Given the description of an element on the screen output the (x, y) to click on. 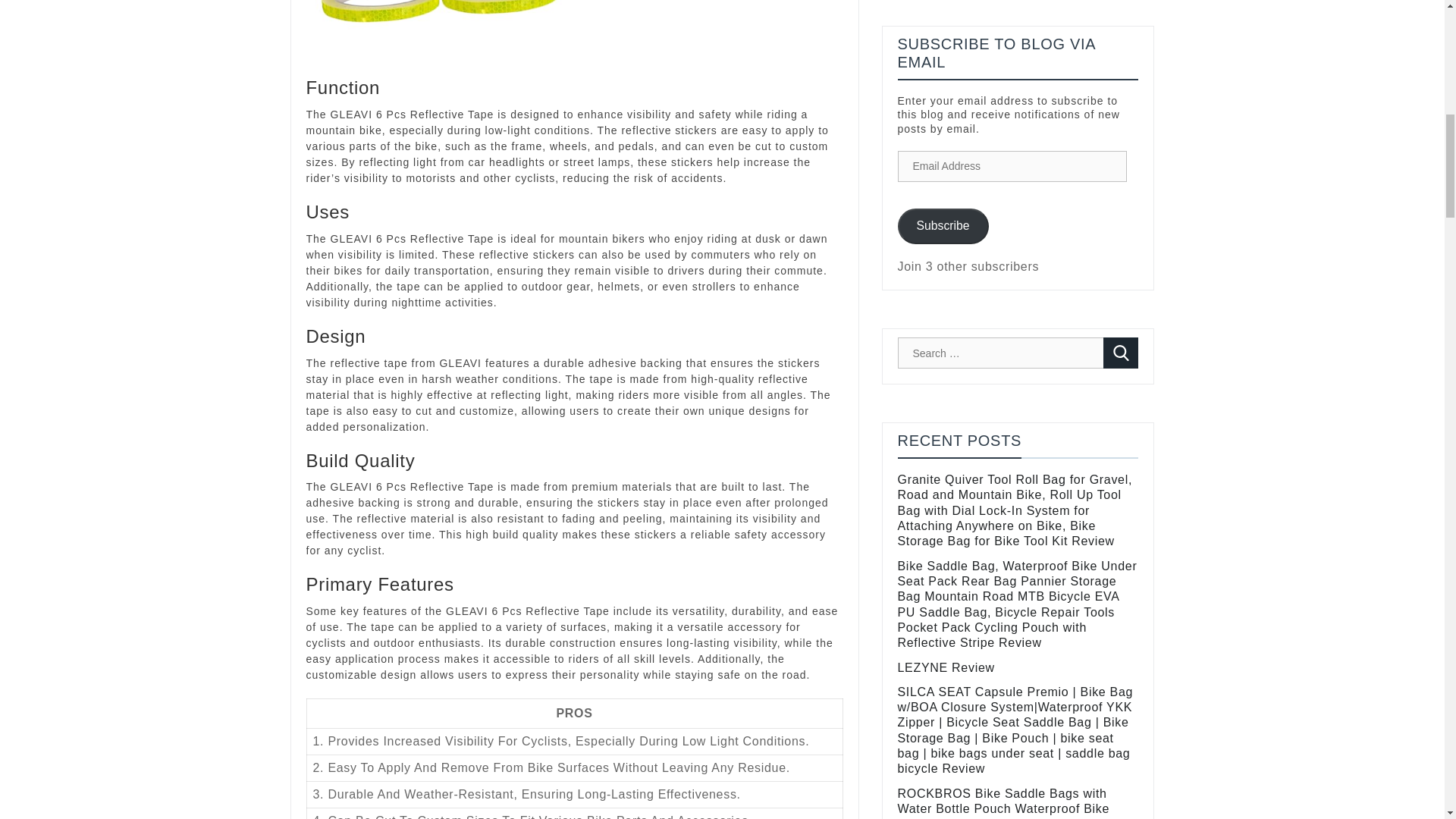
Search (1120, 352)
Search (1120, 352)
